Given the description of an element on the screen output the (x, y) to click on. 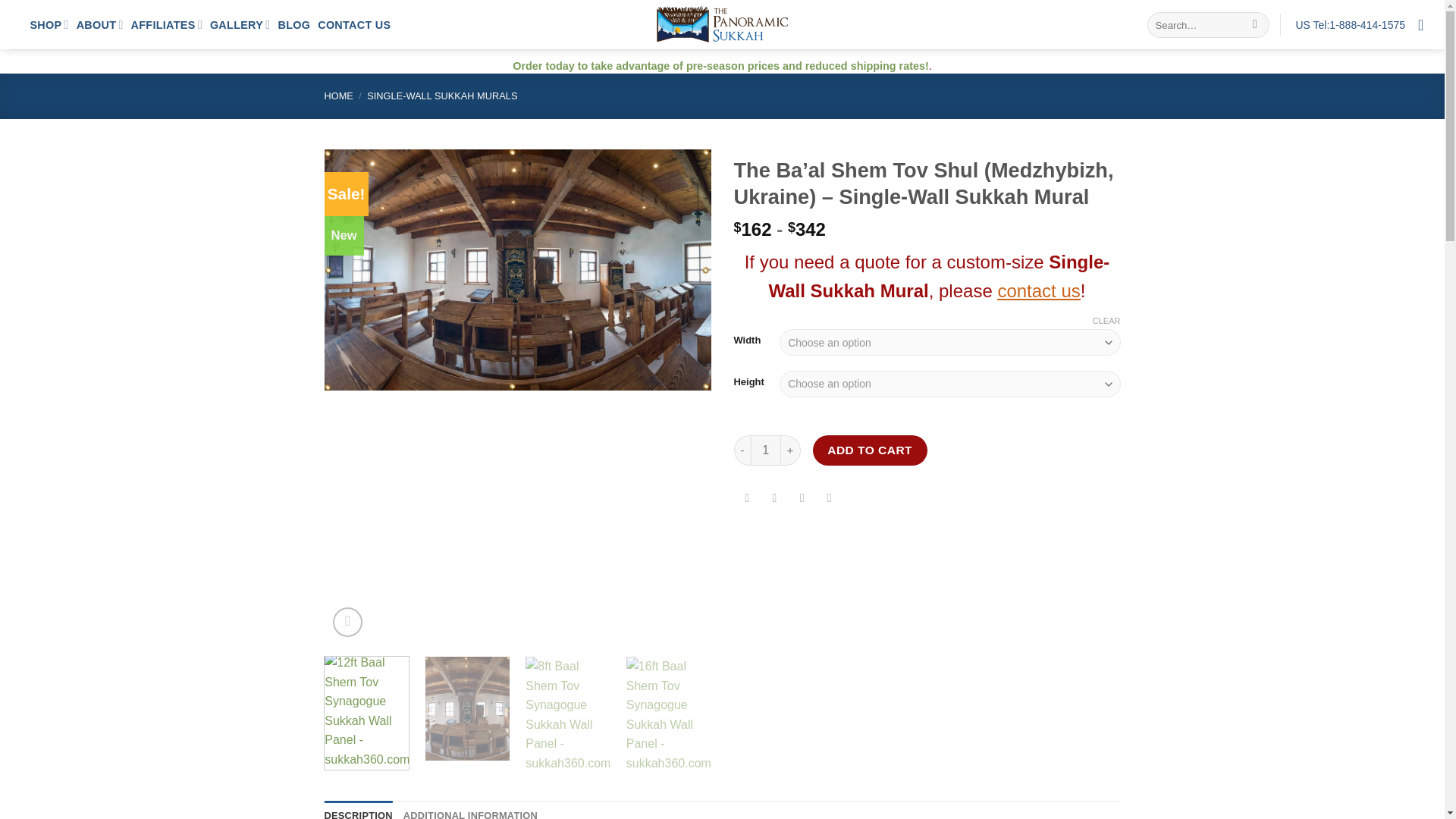
BLOG (294, 24)
HOME (338, 95)
1 (765, 450)
Email to a Friend (801, 499)
Search (1255, 24)
ABOUT (100, 24)
Share on Facebook (747, 499)
US Tel:1-888-414-1575 (1350, 24)
Share on Twitter (774, 499)
Pin on Pinterest (828, 499)
SINGLE-WALL SUKKAH MURALS (441, 95)
AFFILIATES (166, 24)
Zoom (347, 622)
GALLERY (239, 24)
